Given the description of an element on the screen output the (x, y) to click on. 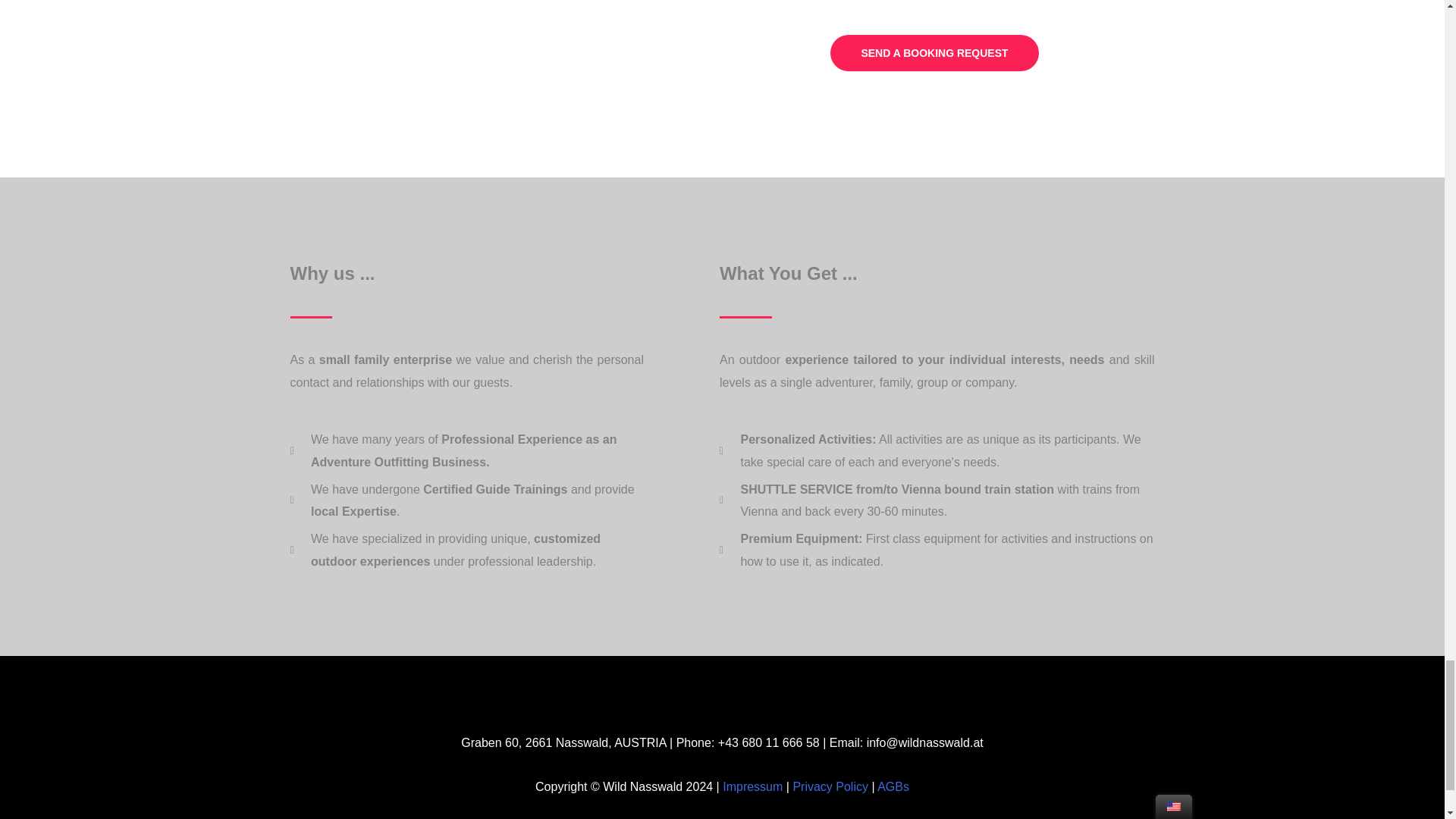
AGBs (892, 786)
SEND A BOOKING REQUEST (933, 53)
Privacy Policy (829, 786)
Impressum (752, 786)
